Given the description of an element on the screen output the (x, y) to click on. 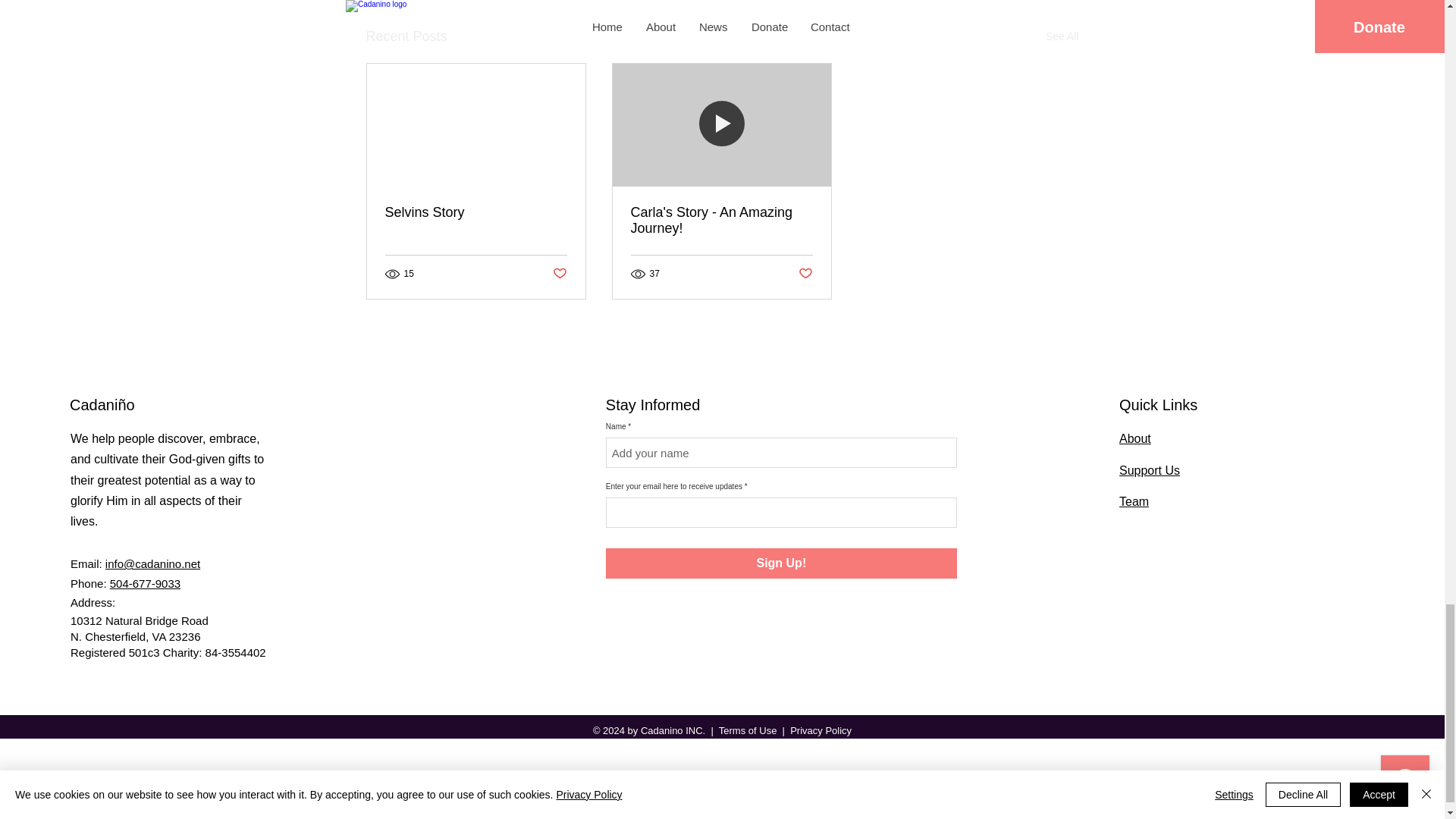
Selvins Story (476, 212)
See All (1061, 36)
Post not marked as liked (558, 273)
